Given the description of an element on the screen output the (x, y) to click on. 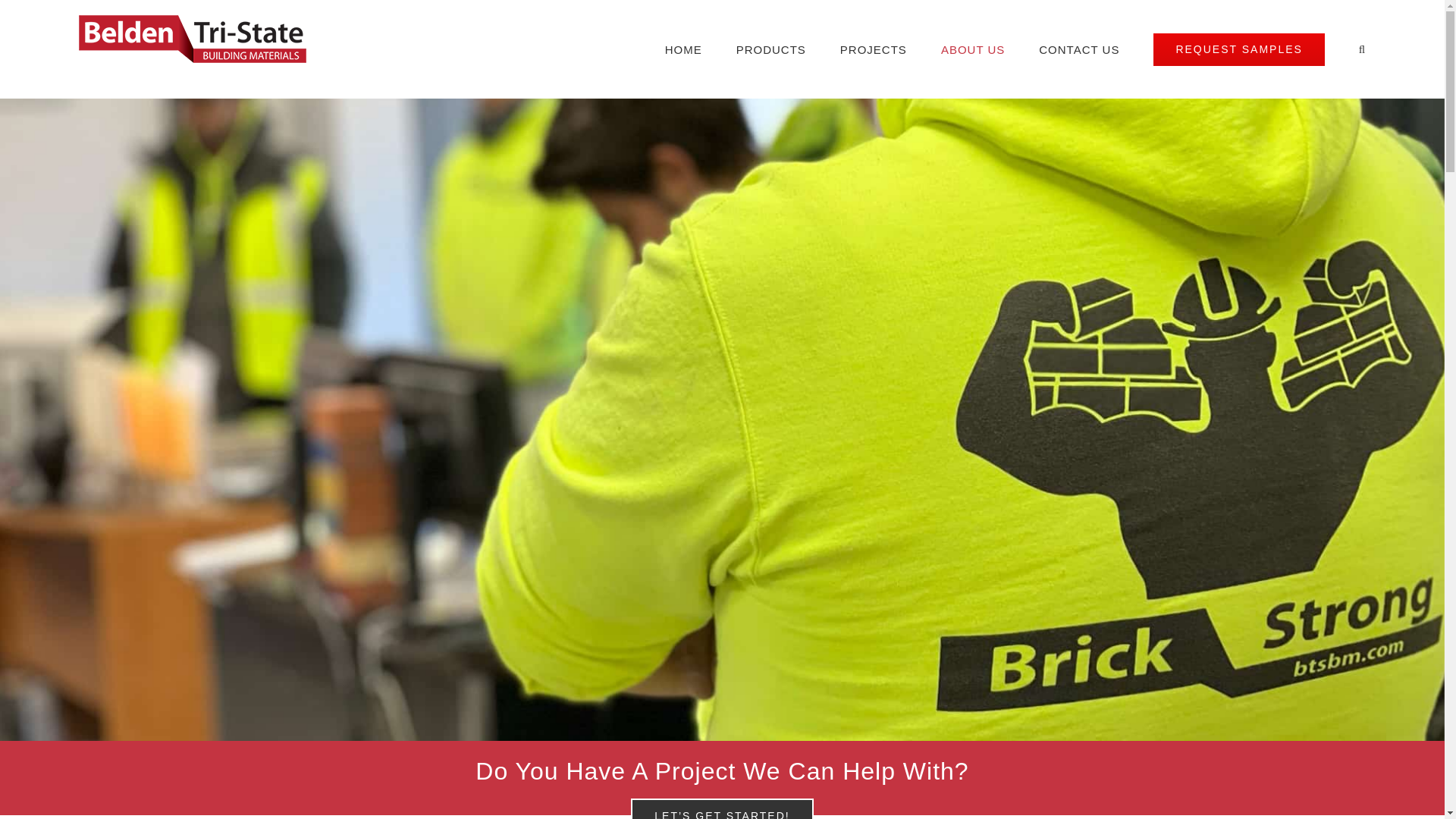
REQUEST SAMPLES (1238, 49)
